Given the description of an element on the screen output the (x, y) to click on. 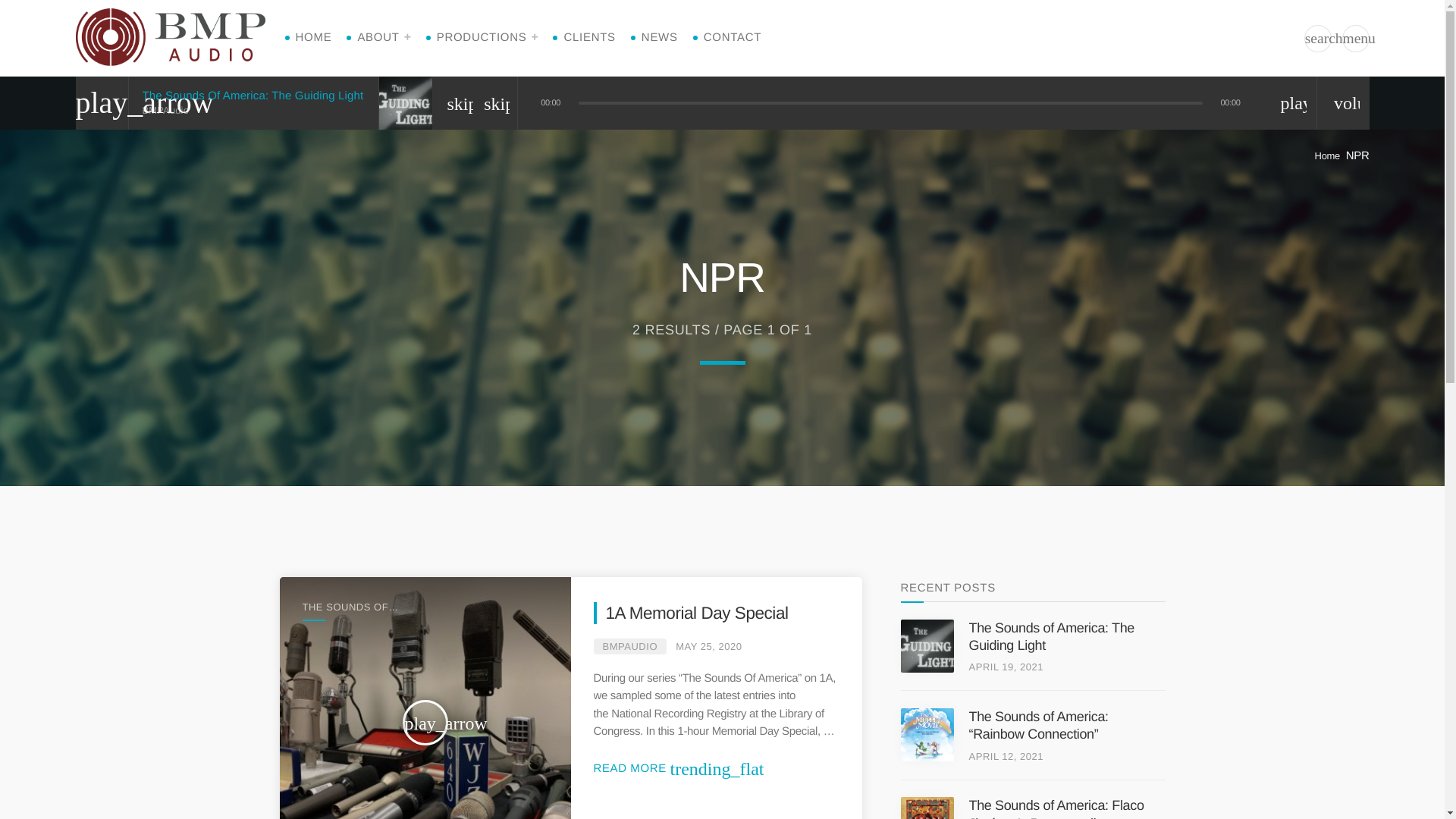
ABOUT (383, 37)
HOME (313, 37)
NEWS (660, 37)
The Sounds Of America: The Guiding Light (253, 95)
CLIENTS (588, 37)
PRODUCTIONS (487, 37)
CONTACT (732, 37)
